Given the description of an element on the screen output the (x, y) to click on. 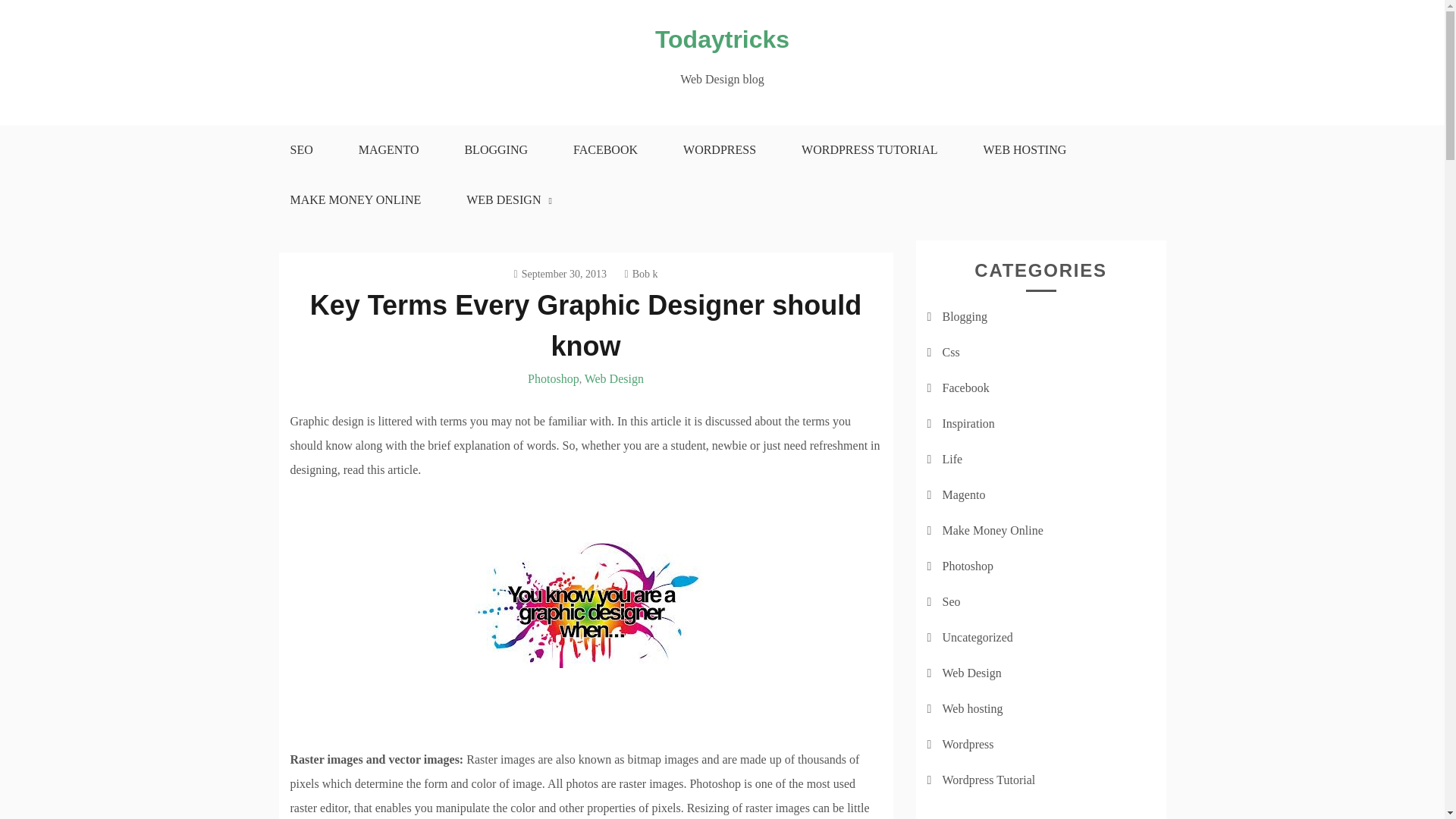
Make Money Online (992, 530)
MAGENTO (388, 150)
Wordpress (967, 744)
WORDPRESS TUTORIAL (869, 150)
Magento (963, 494)
Blogging (964, 316)
Seo (950, 601)
MAKE MONEY ONLINE (354, 200)
FACEBOOK (605, 150)
Life (952, 459)
